Given the description of an element on the screen output the (x, y) to click on. 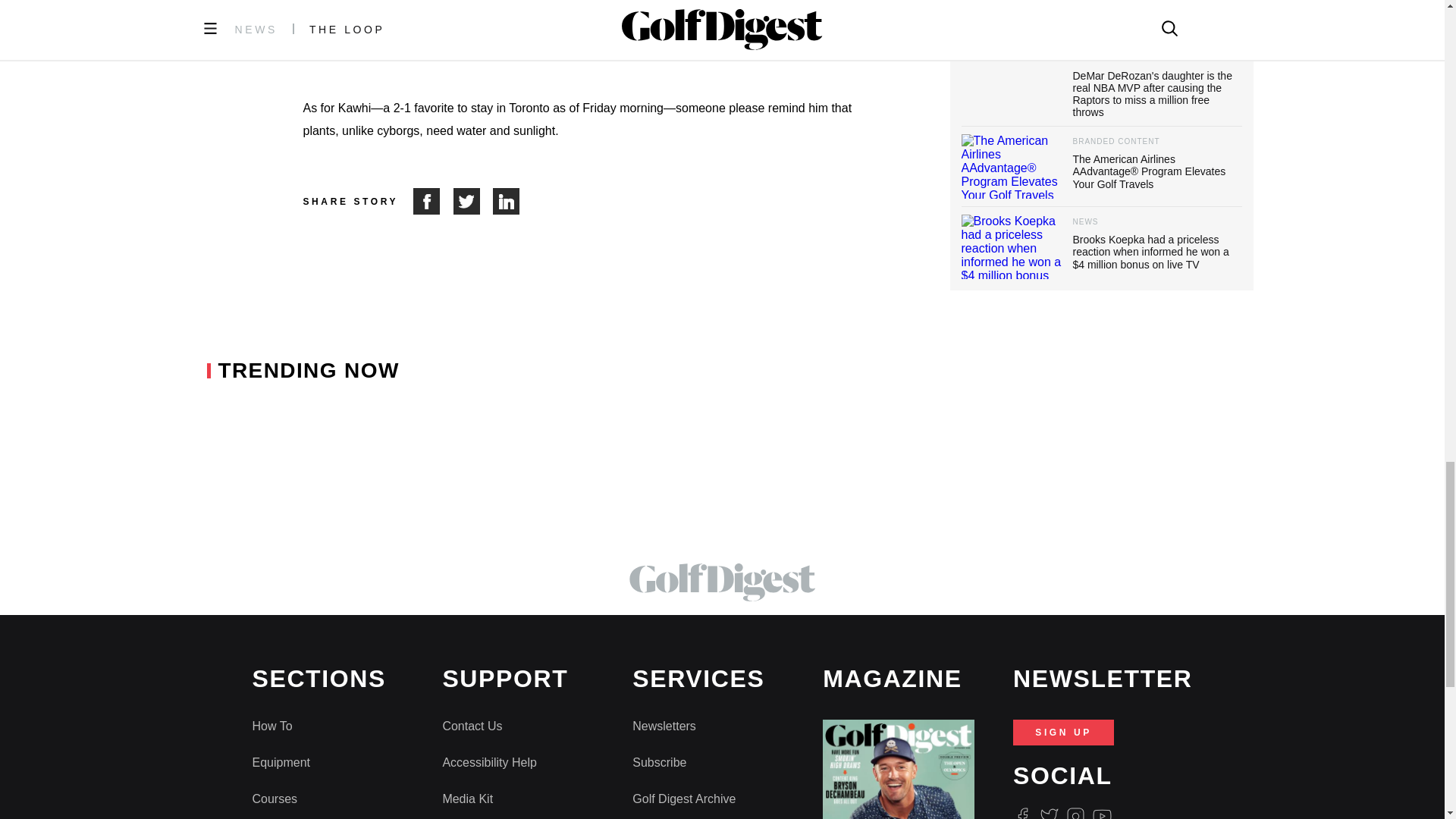
Youtube Icon (1102, 812)
Instagram Logo (1074, 812)
Share on Twitter (472, 201)
Share on Facebook (432, 201)
Twitter Logo (1048, 812)
Facebook Logo (1022, 812)
Share on LinkedIn (506, 201)
